Given the description of an element on the screen output the (x, y) to click on. 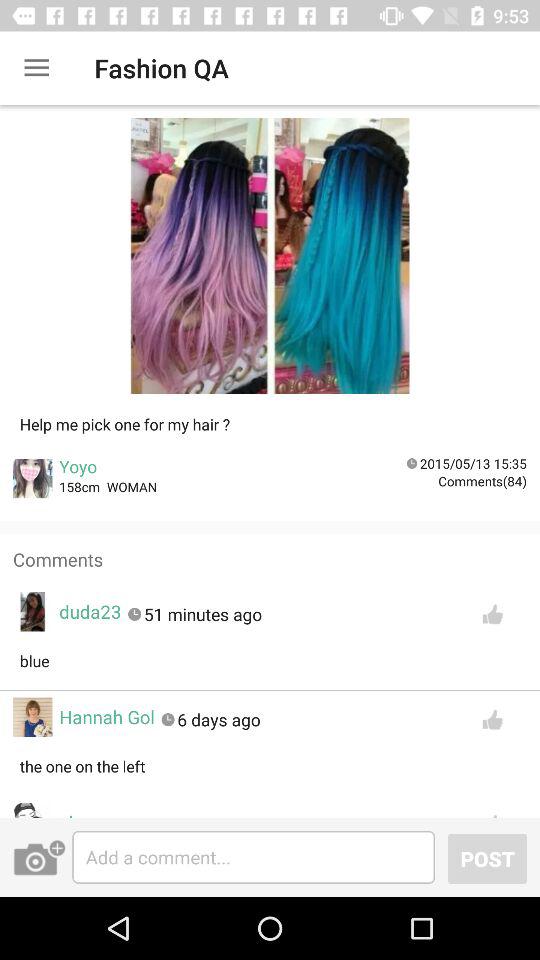
add photo (39, 857)
